Given the description of an element on the screen output the (x, y) to click on. 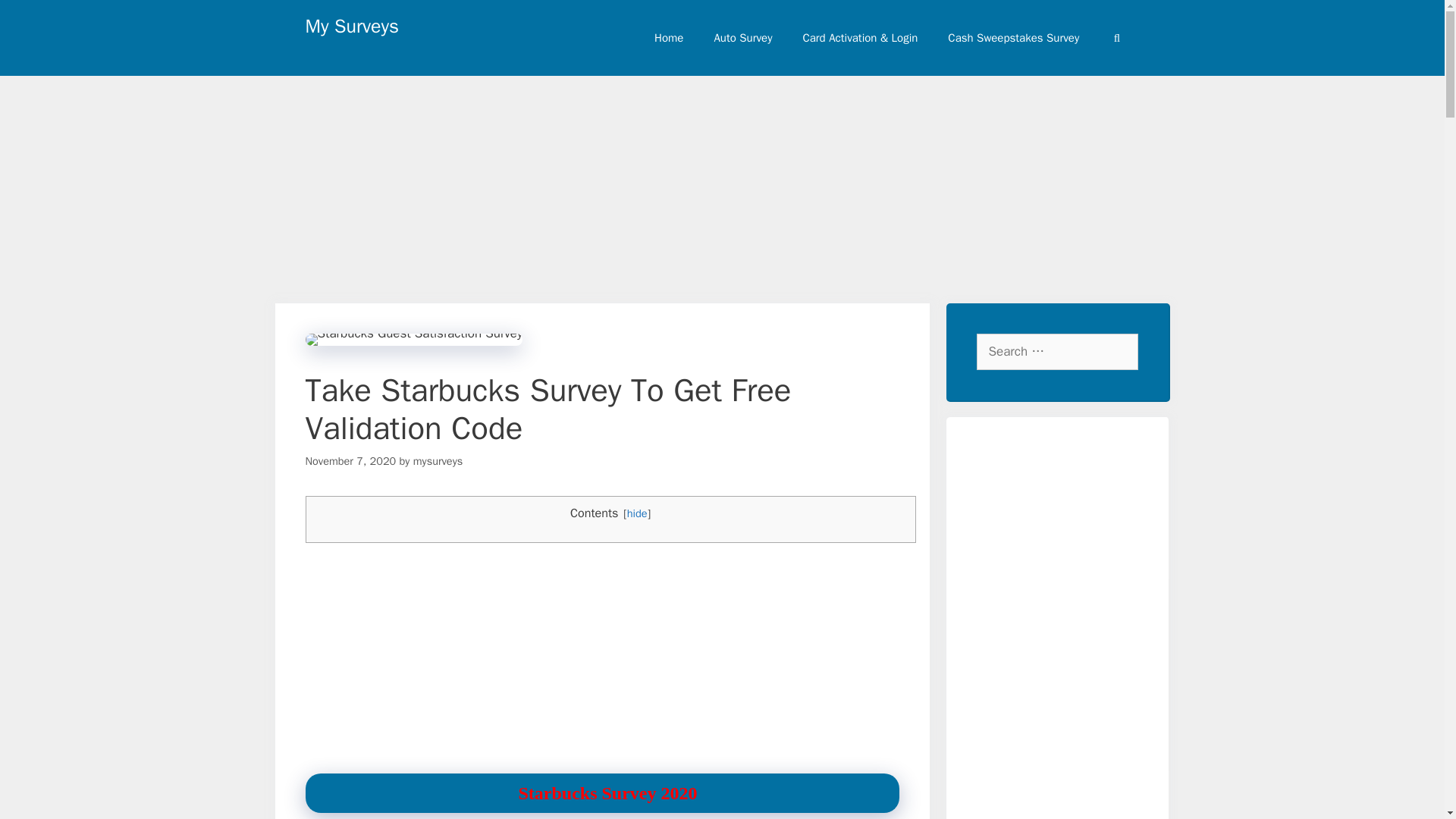
Search for: (1057, 351)
Cash Sweepstakes Survey (1013, 37)
My Surveys (350, 25)
Auto Survey (742, 37)
Advertisement (601, 661)
mysurveys (438, 460)
hide (637, 513)
View all posts by mysurveys (438, 460)
Home (668, 37)
